Given the description of an element on the screen output the (x, y) to click on. 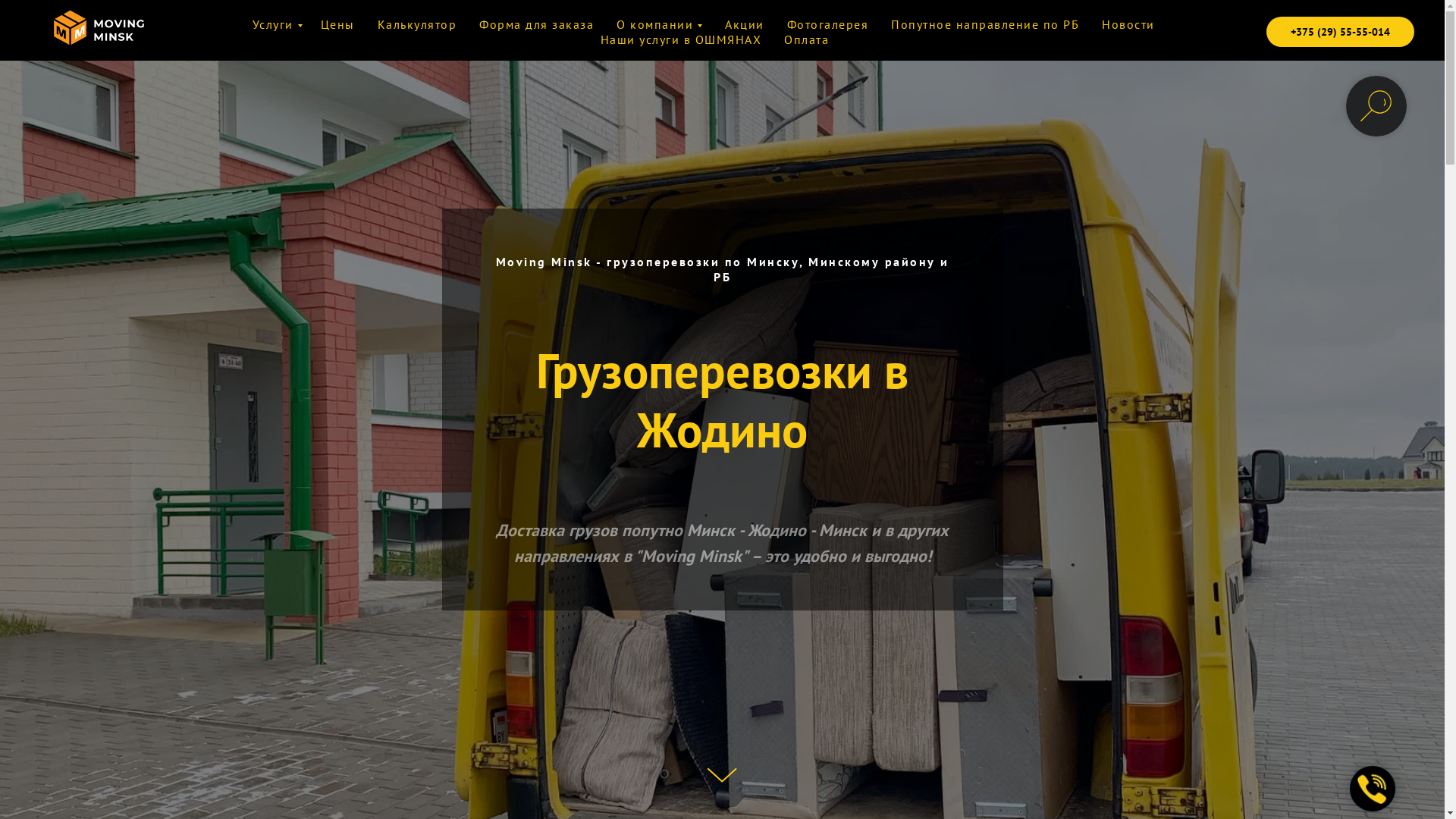
+375 (29) 55-55-014 Element type: text (1340, 31)
